Given the description of an element on the screen output the (x, y) to click on. 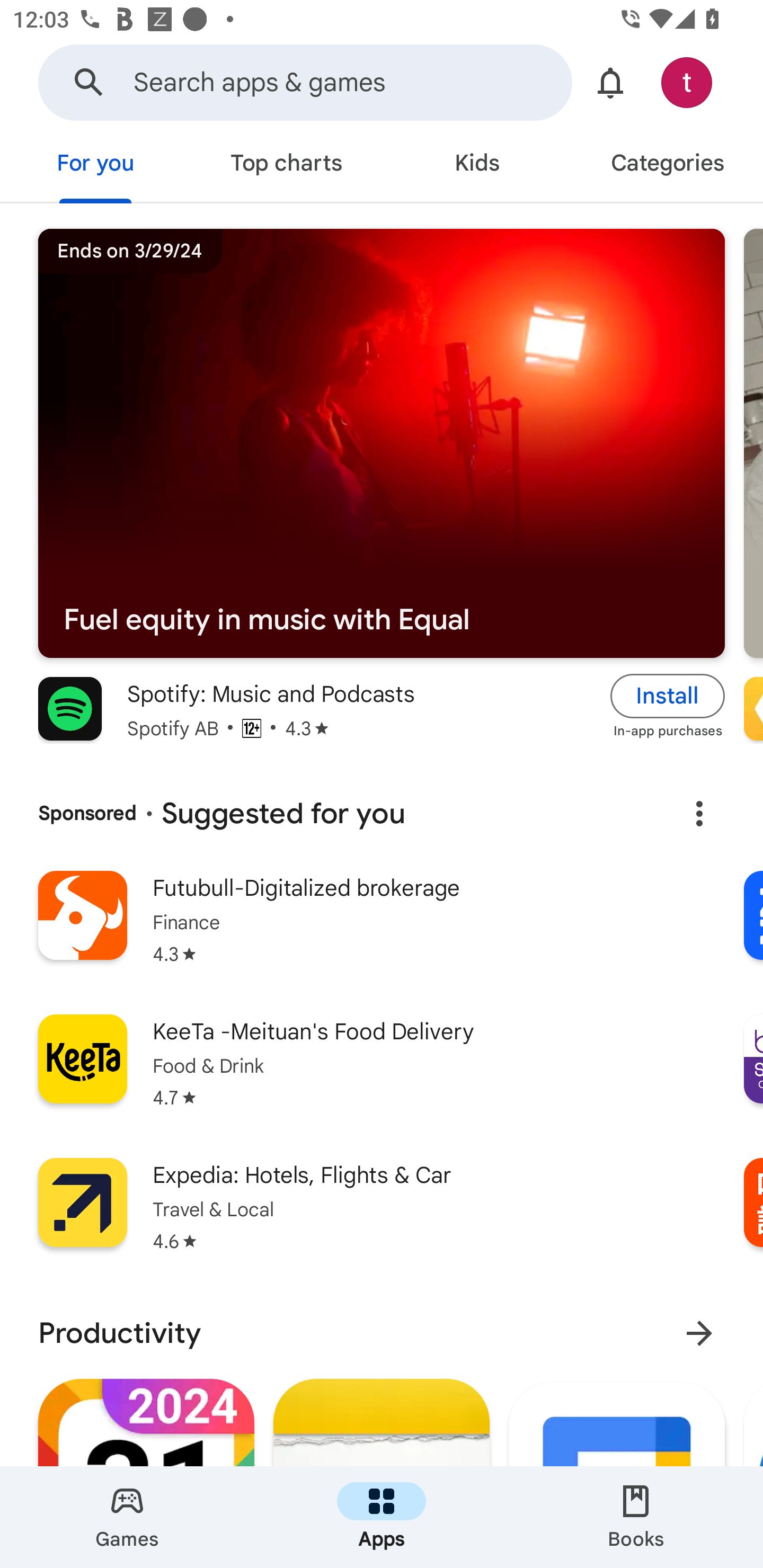
Search Google Play Search apps & games (305, 81)
Search Google Play (89, 81)
Show notifications and offers. (610, 81)
Top charts (285, 165)
Kids (476, 165)
Categories (667, 165)
Fuel equity in music with Equal Ends on 3/29/24 (381, 443)
Install (667, 695)
About this ad (699, 813)
Productivity More results for Productivity (381, 1333)
More results for Productivity (699, 1333)
Games (127, 1517)
Books (635, 1517)
